Given the description of an element on the screen output the (x, y) to click on. 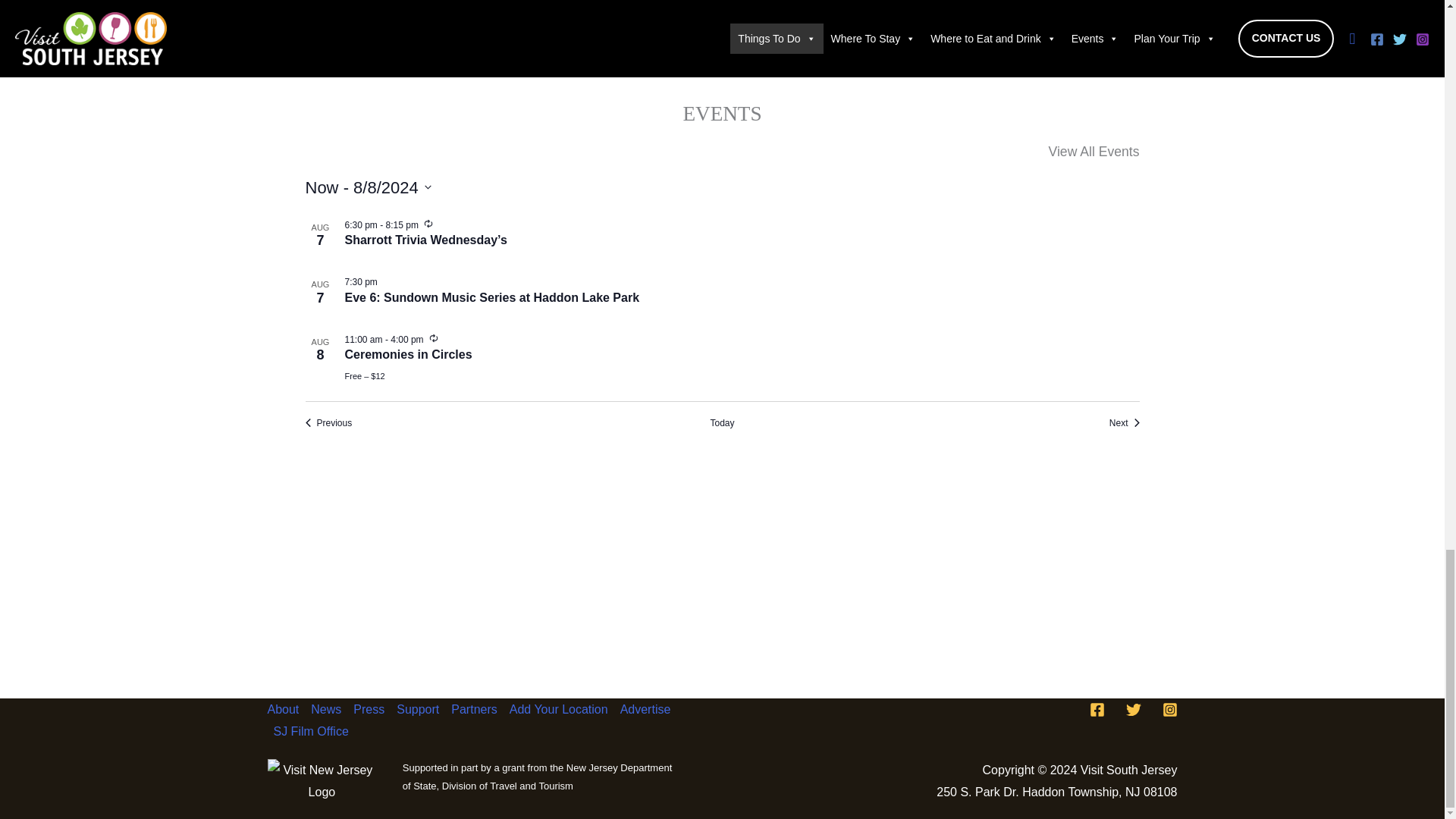
Recurring (433, 338)
Click to toggle datepicker (367, 187)
Recurring (427, 223)
